Given the description of an element on the screen output the (x, y) to click on. 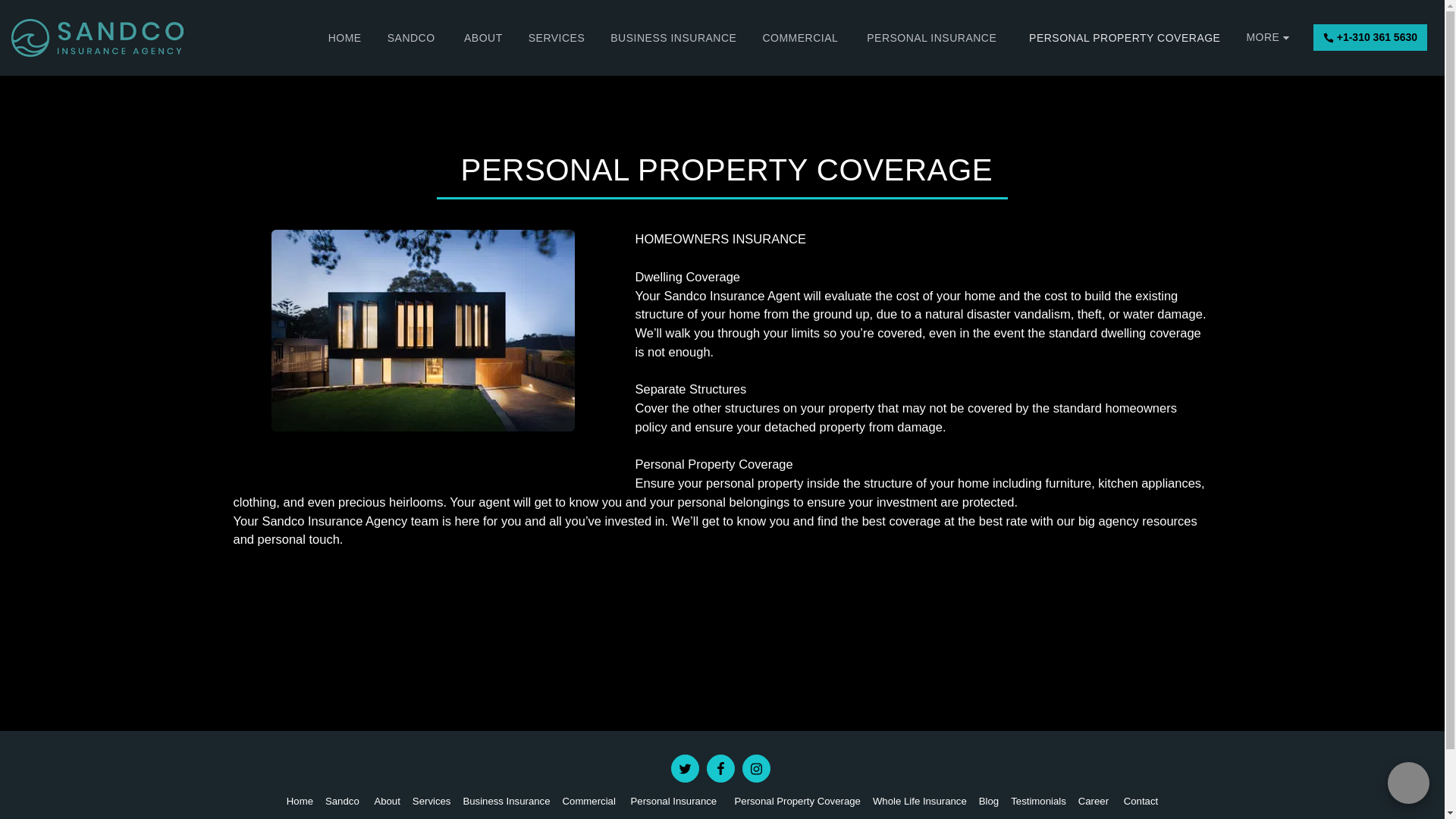
Home (299, 801)
Sandco  (342, 801)
About (386, 801)
MORE   (1269, 37)
 PERSONAL PROPERTY COVERAGE (1122, 37)
BUSINESS INSURANCE (673, 37)
ABOUT (482, 37)
